Given the description of an element on the screen output the (x, y) to click on. 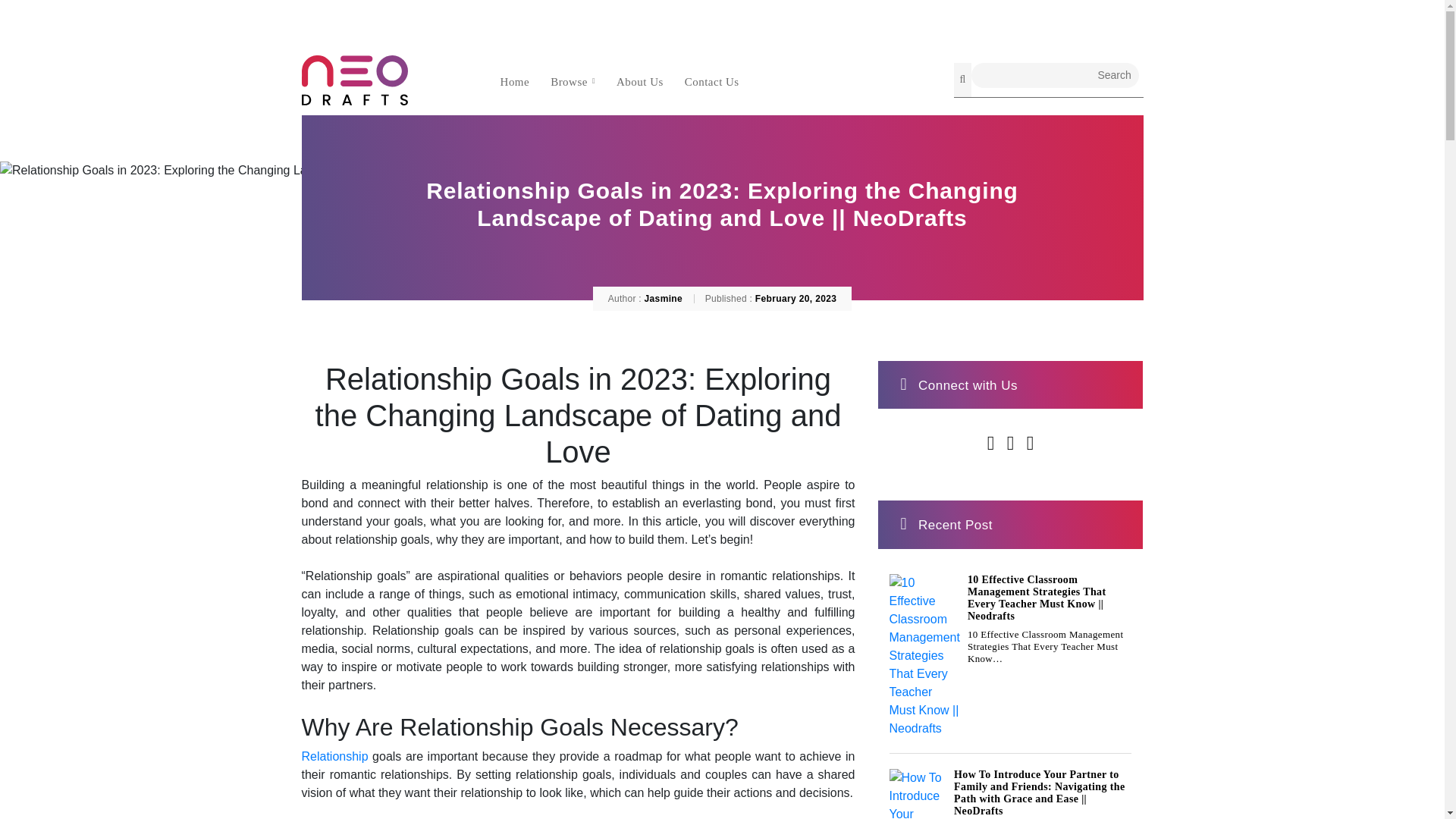
Jasmine (663, 298)
Home (515, 80)
Relationship (334, 756)
Browse (572, 80)
Contact Us (711, 80)
About Us (639, 80)
